Given the description of an element on the screen output the (x, y) to click on. 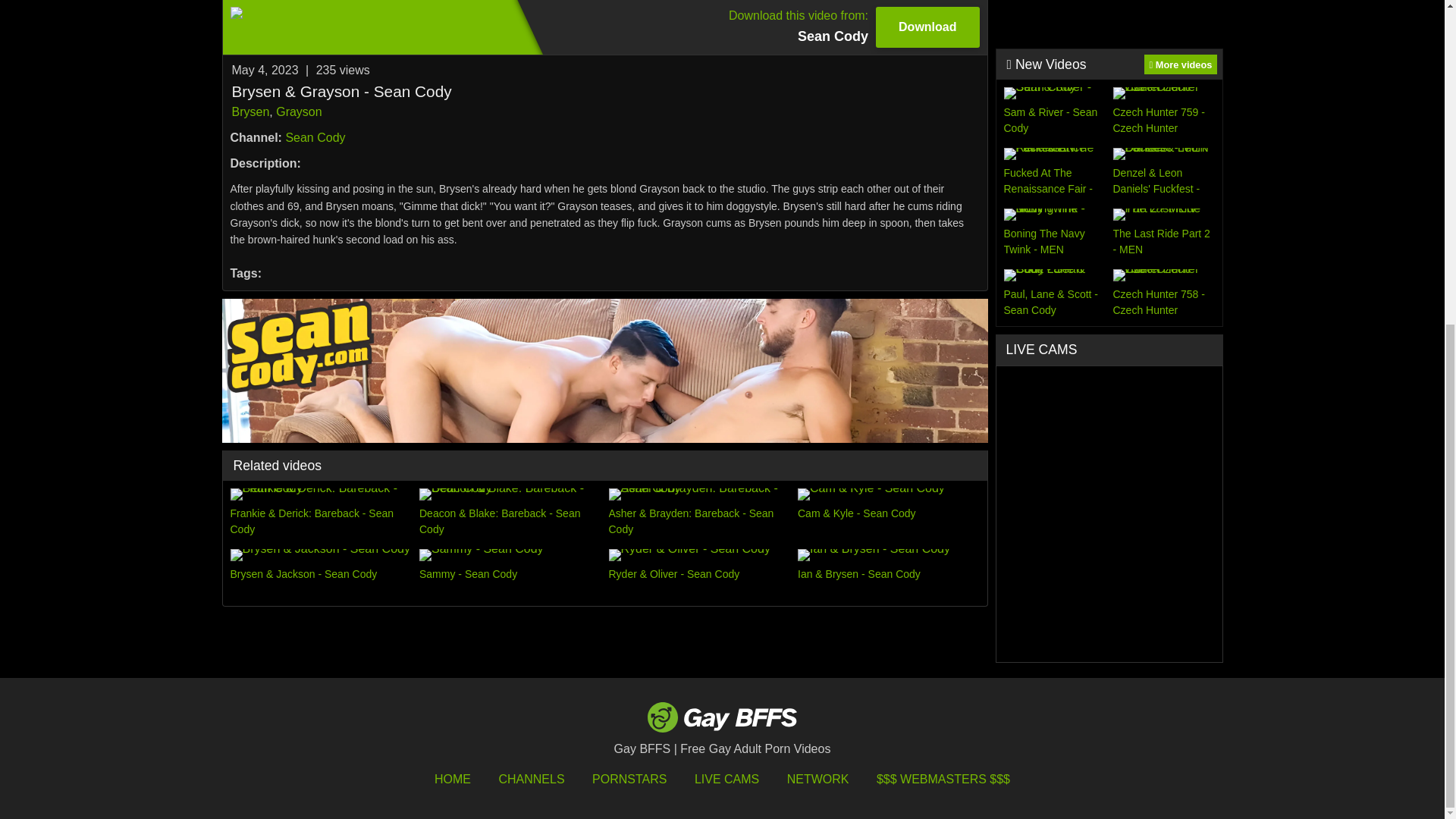
Grayson (298, 111)
Sean Cody (604, 27)
Brysen (315, 137)
